Given the description of an element on the screen output the (x, y) to click on. 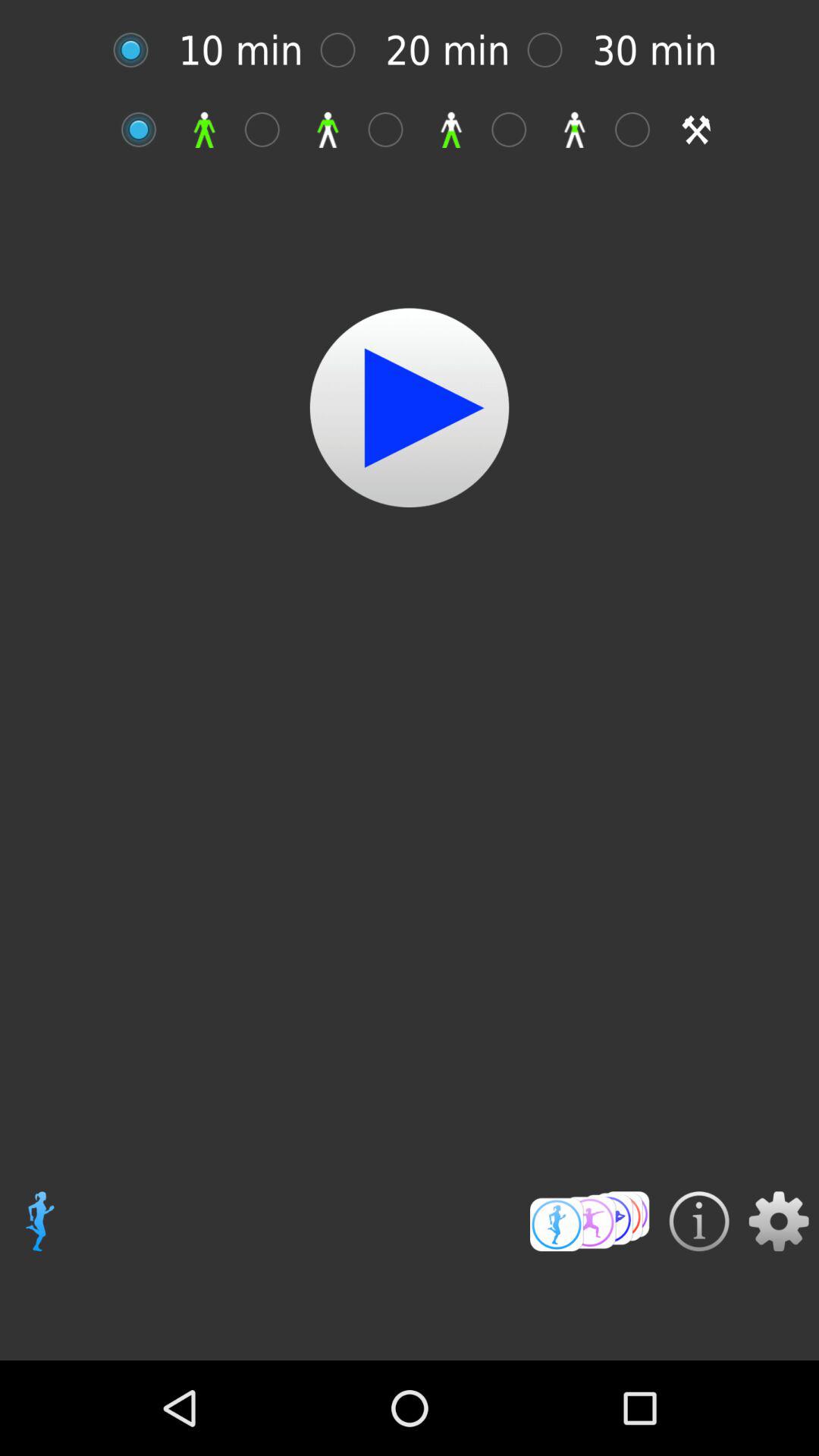
video rating (589, 1221)
